Given the description of an element on the screen output the (x, y) to click on. 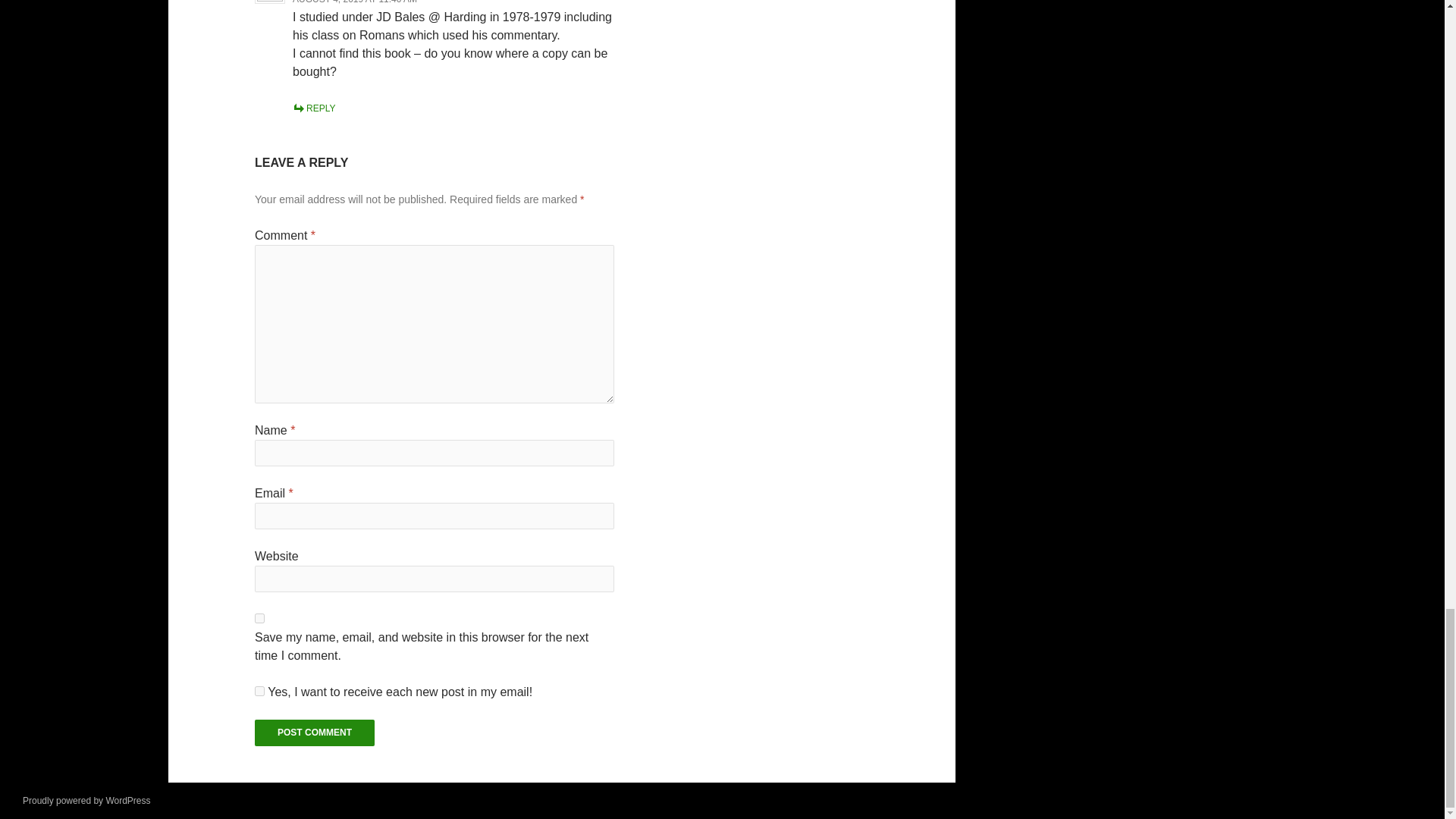
yes (259, 618)
Post Comment (314, 732)
1 (259, 691)
